Given the description of an element on the screen output the (x, y) to click on. 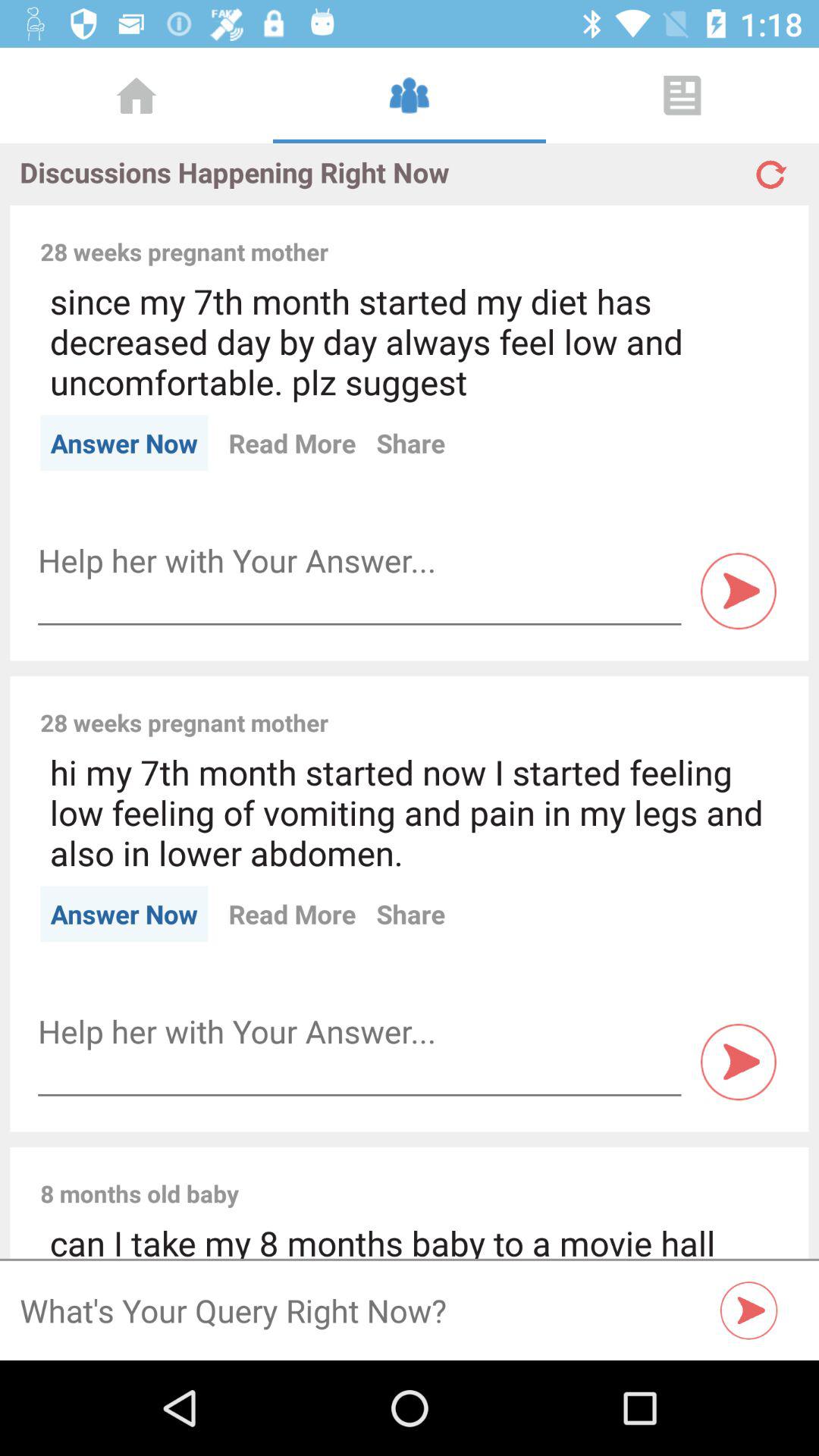
choose the item to the right of 8 months old item (518, 1176)
